Given the description of an element on the screen output the (x, y) to click on. 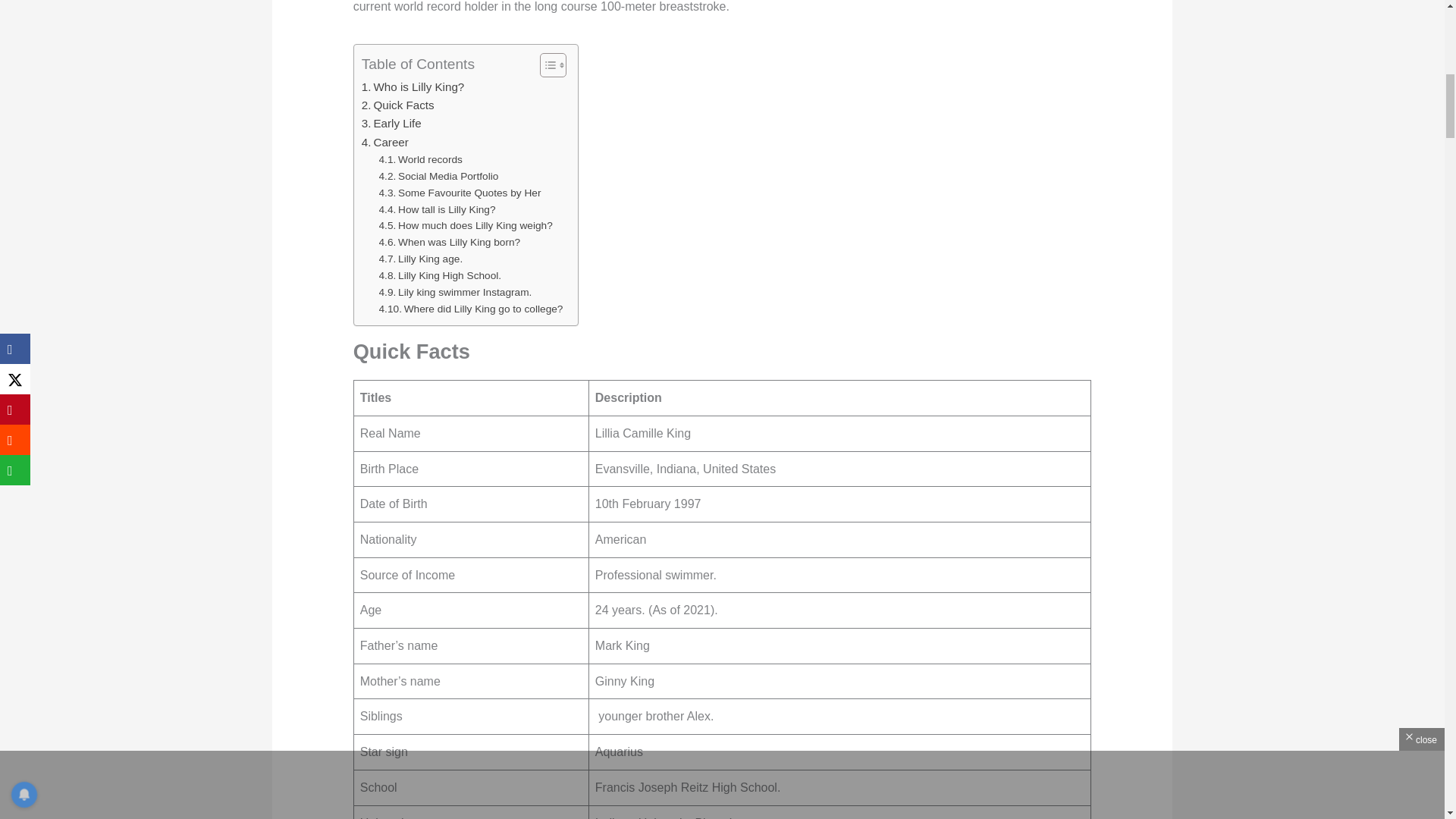
Social Media Portfolio (438, 176)
Who is Lilly King? (412, 86)
Quick Facts (397, 105)
Some Favourite Quotes by Her  (459, 193)
How much does Lilly King weigh?  (465, 225)
World records (420, 159)
Early Life (391, 123)
How tall is Lilly King? (437, 209)
Career (385, 142)
